Given the description of an element on the screen output the (x, y) to click on. 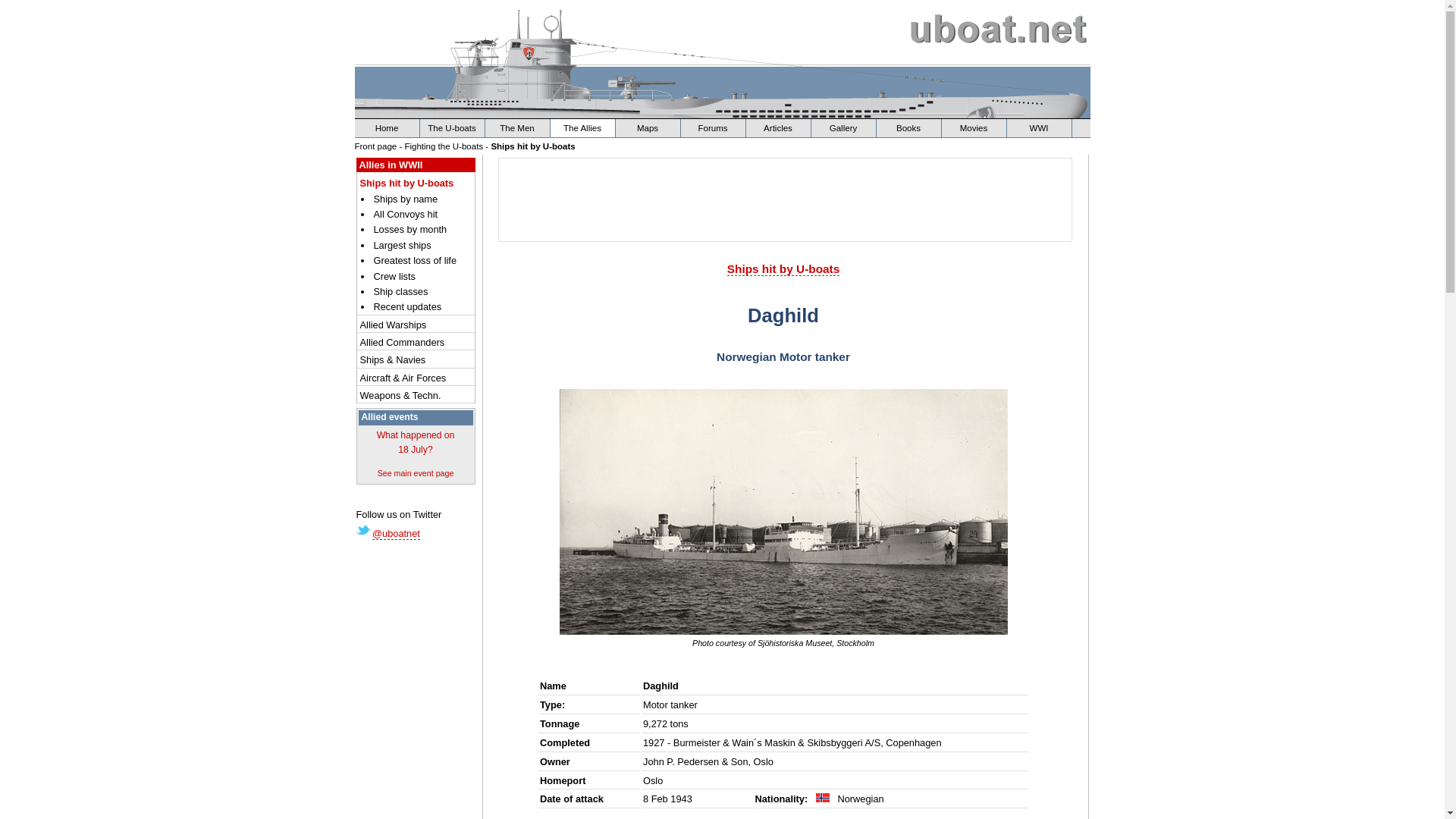
Largest ships (423, 244)
The Men (517, 127)
Ships hit by U-boats (532, 145)
Join our Forums (713, 127)
Front page (376, 145)
Fighting the U-boats (443, 145)
The Allies (582, 127)
Naval Warfare Movies (974, 127)
Books (909, 127)
All Convoys hit (423, 214)
Articles (777, 127)
Galleries (843, 127)
World War One (1039, 127)
Ship classes (423, 291)
Allied Commanders (416, 342)
